Given the description of an element on the screen output the (x, y) to click on. 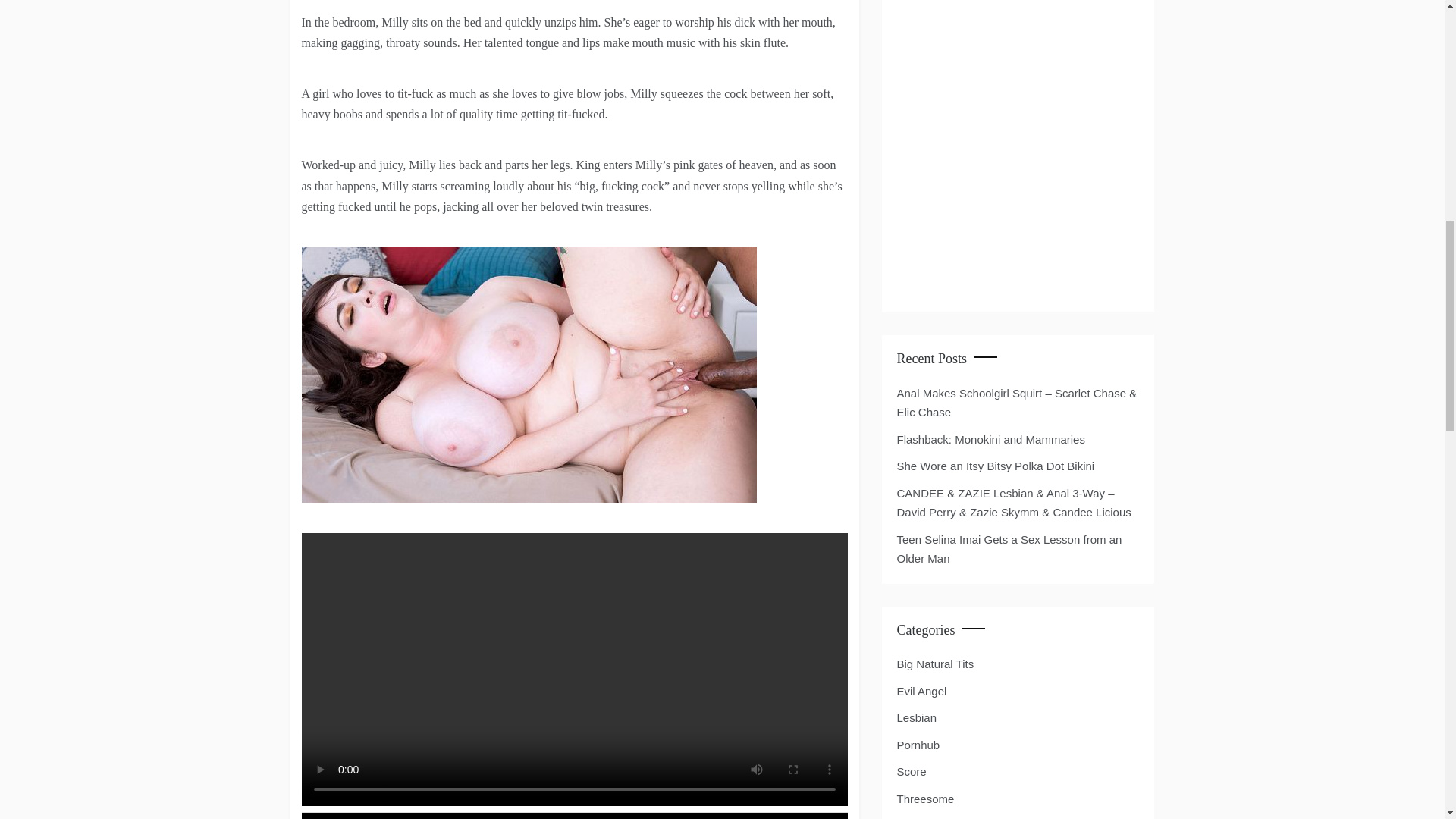
She Wore an Itsy Bitsy Polka Dot Bikini (995, 465)
Evil Angel (921, 691)
Pornhub (917, 745)
Sausage delivery (529, 374)
Lesbian (916, 718)
Teen Selina Imai Gets a Sex Lesson from an Older Man (1008, 549)
Flashback: Monokini and Mammaries (990, 439)
Big Natural Tits (935, 664)
